Given the description of an element on the screen output the (x, y) to click on. 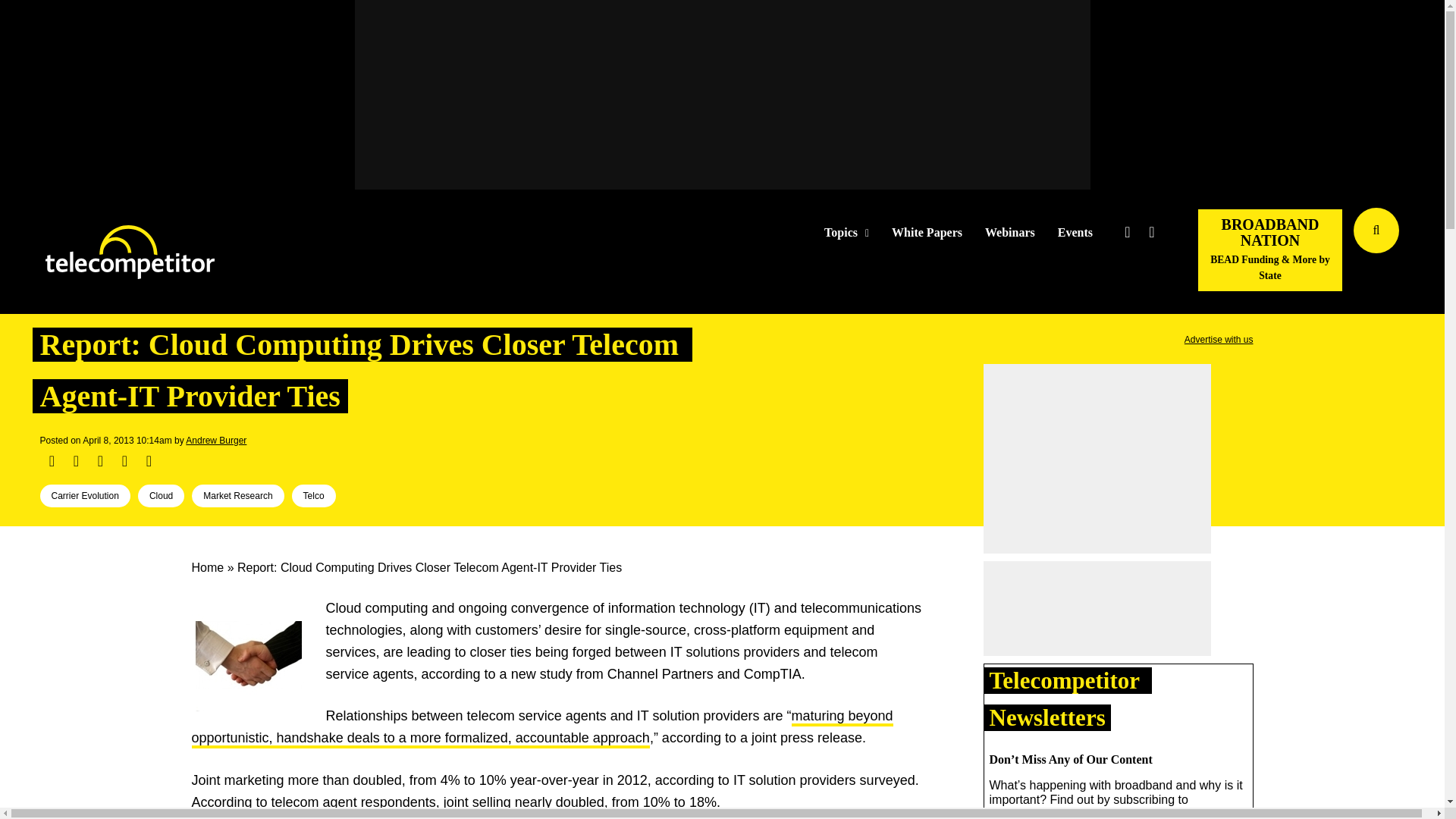
Spread the word on Twitter (75, 460)
Webinars (1010, 232)
Pinterest (124, 460)
Share on Linked In (99, 460)
Follow Us on Twitter (1127, 232)
Search (1430, 253)
White Papers (927, 232)
Follow Us on LinkedIN (1151, 232)
Share on Facebook (51, 460)
Topics (846, 232)
Events (1074, 232)
Search telecompetitor.com (1376, 230)
